Given the description of an element on the screen output the (x, y) to click on. 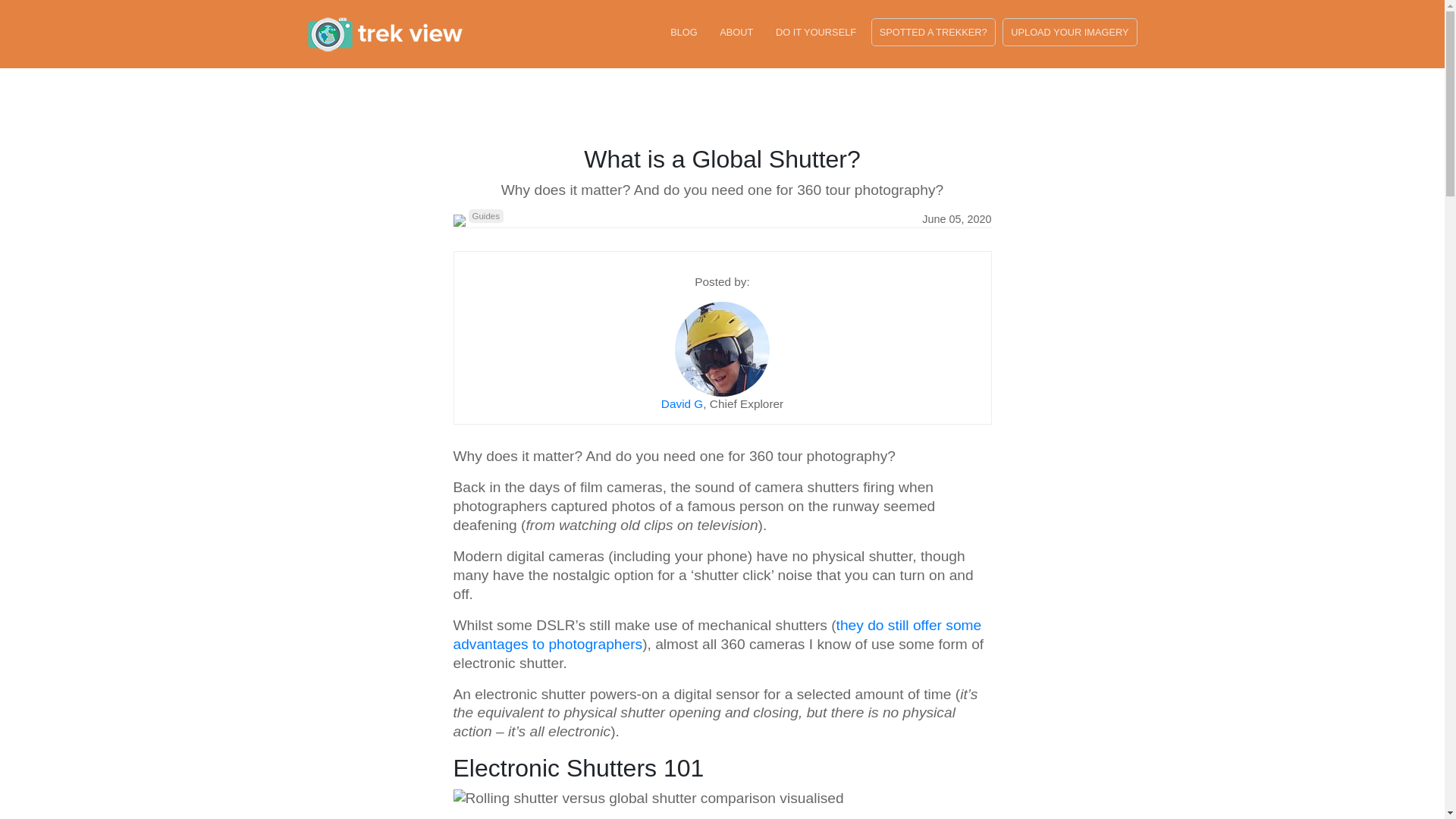
ABOUT (735, 31)
SPOTTED A TREKKER? (932, 31)
David G (682, 403)
DO IT YOURSELF (815, 31)
they do still offer some advantages to photographers (716, 634)
Rolling shutter versus global shutter comparison visualised (648, 798)
Trek View Logo (384, 34)
BLOG (683, 31)
Guides (485, 215)
UPLOAD YOUR IMAGERY (1070, 31)
